Given the description of an element on the screen output the (x, y) to click on. 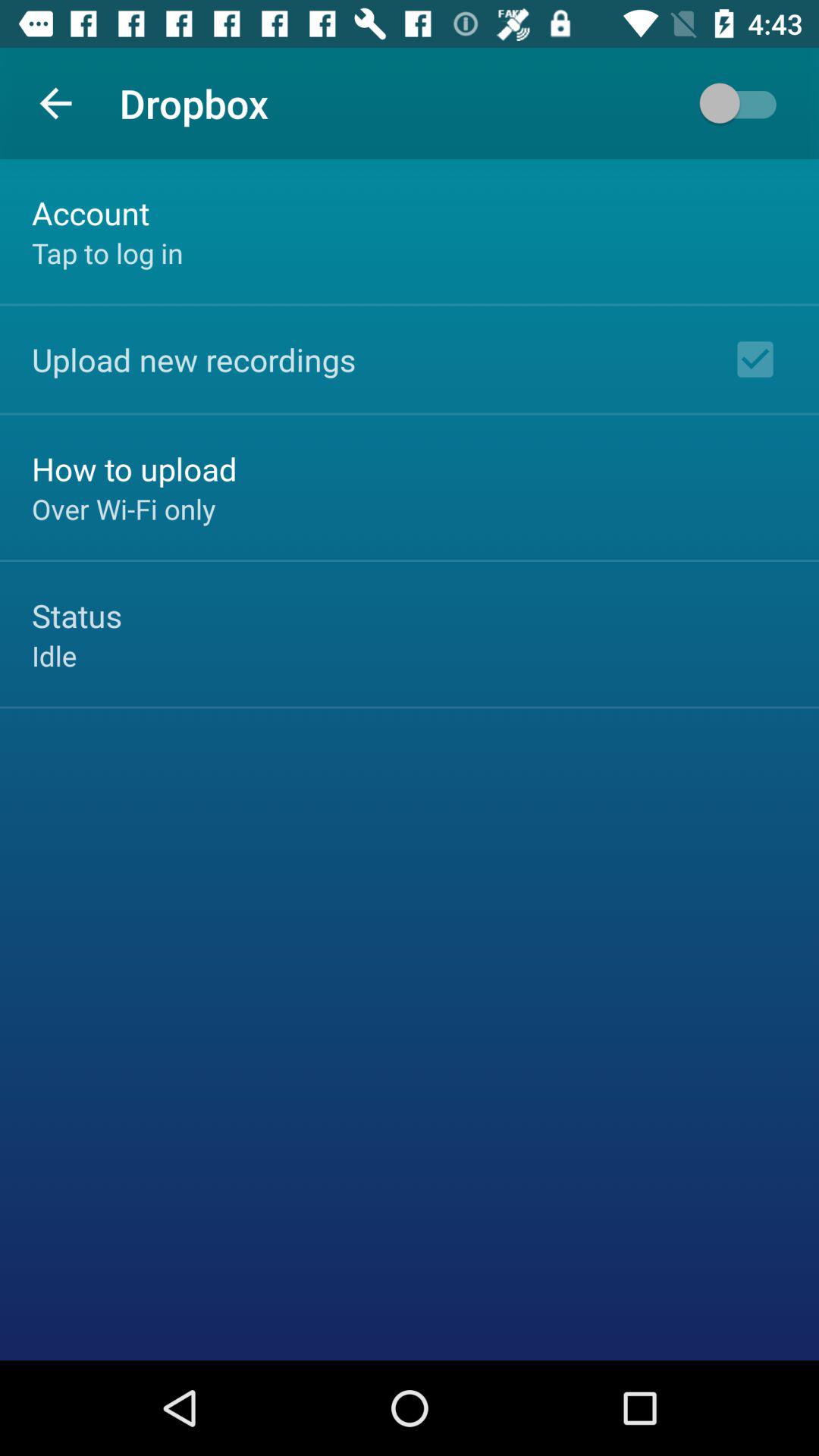
select icon above the idle icon (76, 615)
